Given the description of an element on the screen output the (x, y) to click on. 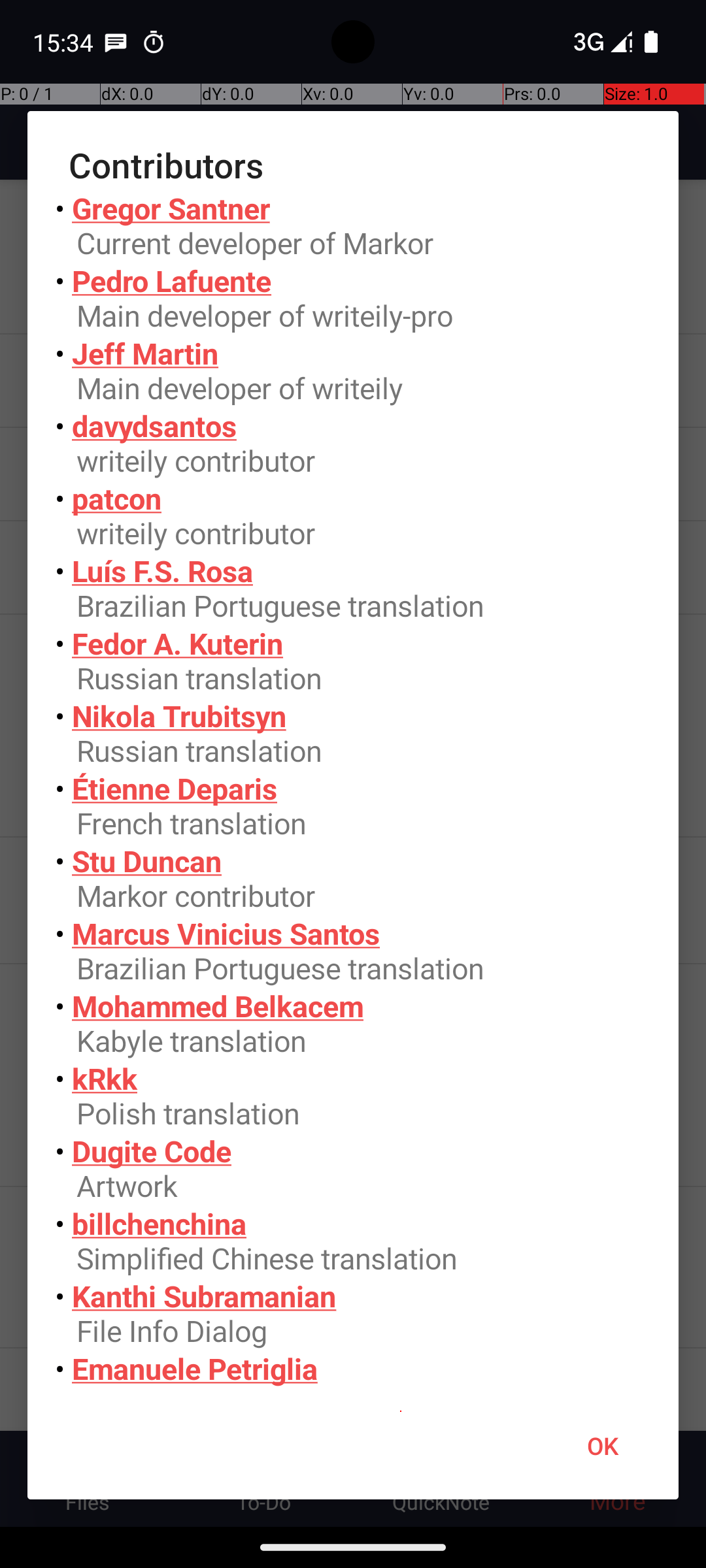
• Gregor Santner
   Current developer of Markor
• Pedro Lafuente
   Main developer of writeily-pro
• Jeff Martin
   Main developer of writeily
• davydsantos
   writeily contributor
• patcon
   writeily contributor
• Luís F.S. Rosa
   Brazilian Portuguese translation
• Fedor A. Kuterin
   Russian translation
• Nikola Trubitsyn
   Russian translation
• Étienne Deparis
   French translation
• Stu Duncan
   Markor contributor
• Marcus Vinicius Santos
   Brazilian Portuguese translation
• Mohammed Belkacem
   Kabyle translation
• kRkk
   Polish translation
• Dugite Code
   Artwork
• billchenchina
   Simplified Chinese translation
• Kanthi Subramanian
   File Info Dialog
• Emanuele Petriglia
   Italian translation
• Tiago Danin
   Brazilian Portuguese translation
• Jesica Chu
   Spanish and Traiditonal Chinese translation
• Ankush S Shetkar
   Added Chrome custom tabs for urls
• Lars Pontoppidan
   Danish translation
• Amaya Lim
   Improve project description
• Jawkwon Im
   Add keep screen on
• Mark Goldman
   Added sorting for todo.txt, improved wiki
• natanelho
   Hebrew translation
• Alexander Sachse
   Added simple word counter
• Kyle Phelps
   Added functionality to share multiple files from file browser
• Vladislav Glinsky
   Ukrainian/Russian translations
• David Hebbeker
   Added tooltips for text actions.
• Harshad Srinivasan
   Added functionality to handle leading spaces in lists.
• Niels
   Added encryption for textfile contents.
• Helguli
   Added fast scroll to editor.
• Patricia Heimfarth
   Added checkbox for todo completion date
• Peter Schwede
   Added Zim-Wiki support.
• Frederic Jacob
   Added Zim-Wiki highlighting, text actions, view mode, page creation.
• Winston Feng
   Support spaces in URL.
• k3b
   Added CSV-Support.
 Element type: android.widget.TextView (352, 790)
